Given the description of an element on the screen output the (x, y) to click on. 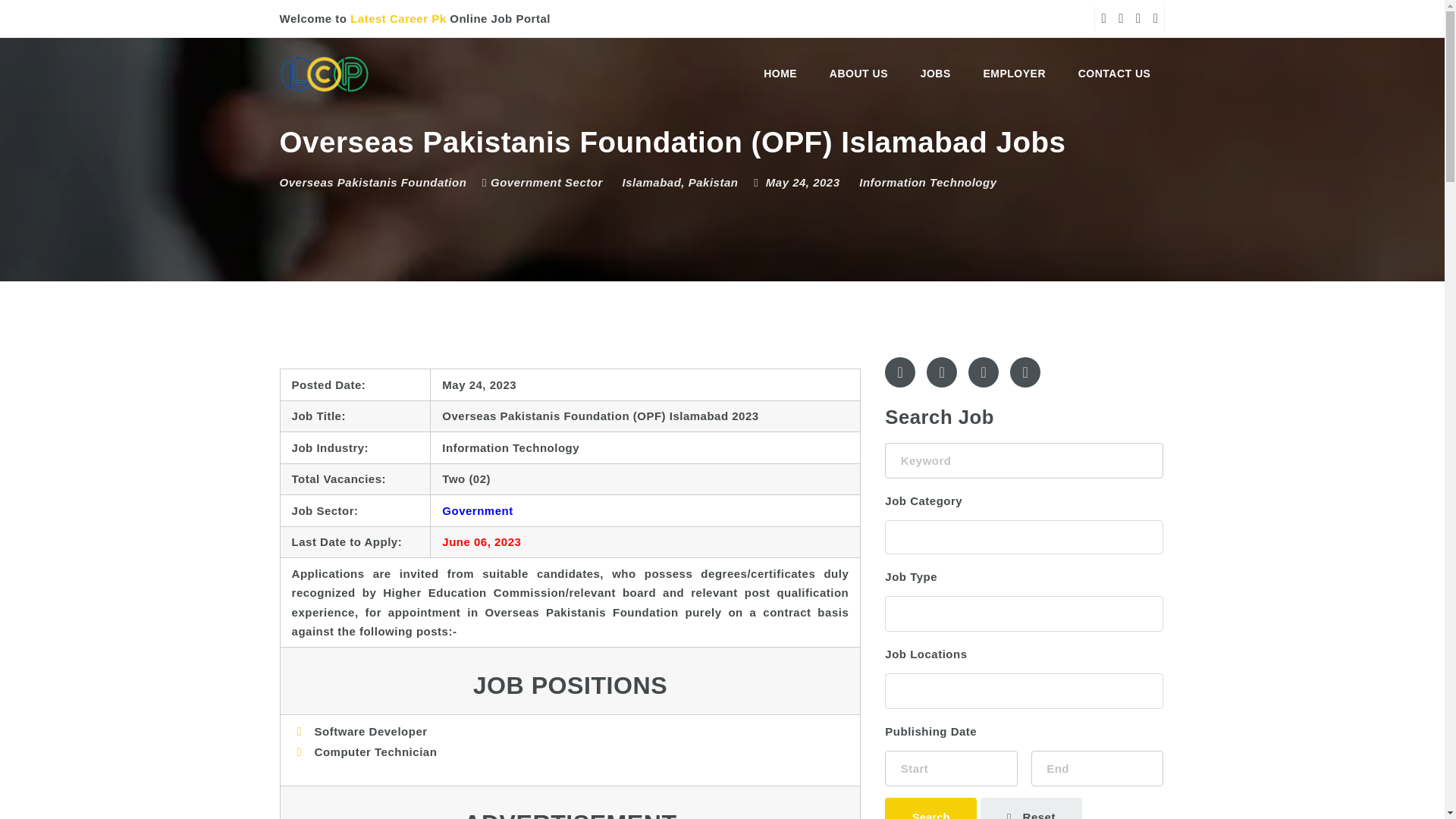
Government Sector (541, 182)
CONTACT US (1115, 73)
Non-Stop Daily Latest Jobs Publisher (324, 73)
Pakistan (713, 182)
EMPLOYER (1013, 73)
Islamabad (651, 182)
Overseas Pakistanis Foundation (373, 182)
ABOUT US (858, 73)
Information Technology (927, 182)
Government (477, 510)
